Given the description of an element on the screen output the (x, y) to click on. 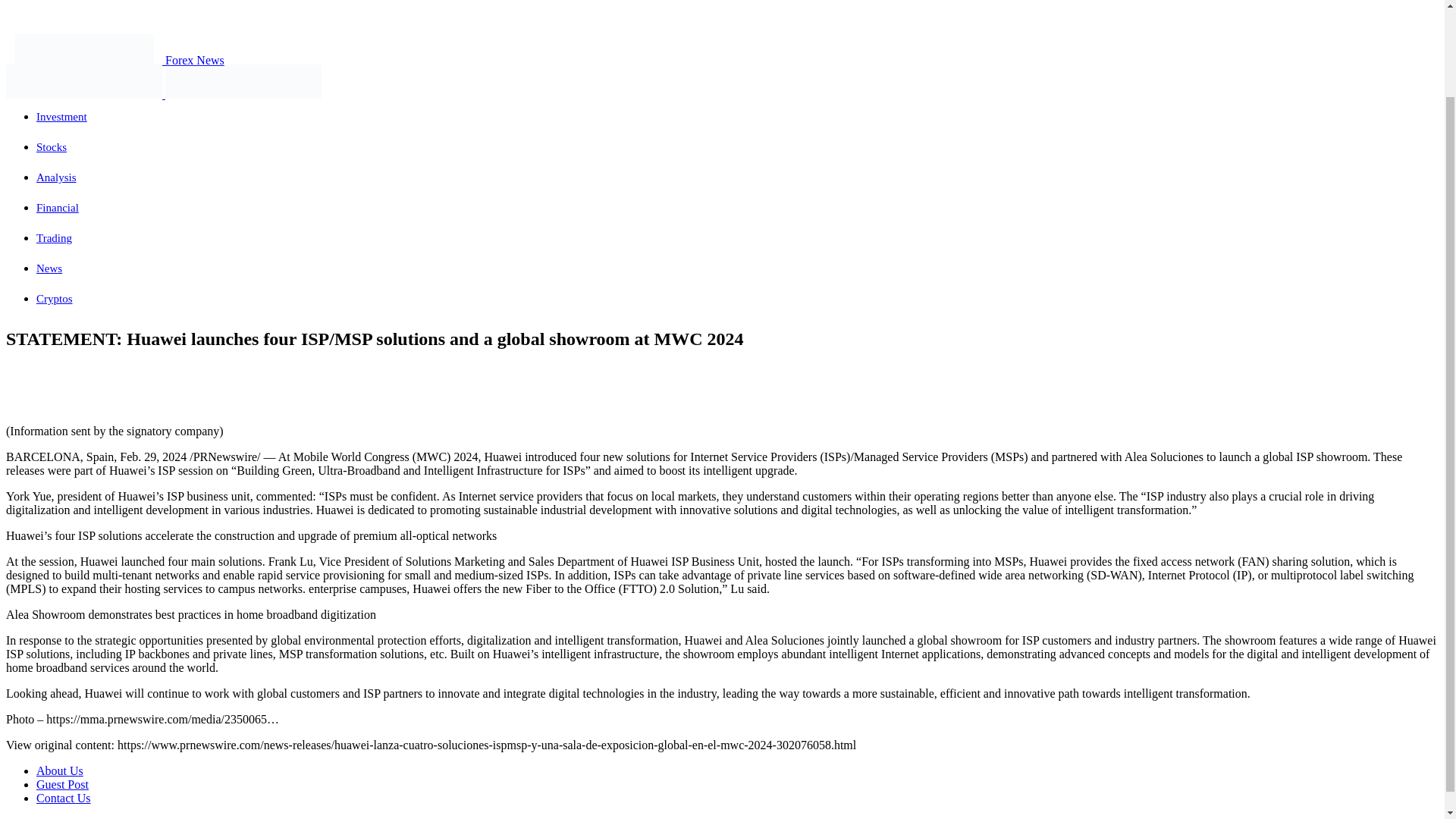
Trading (53, 237)
Investment (61, 116)
Analysis (56, 177)
Financial (57, 207)
Guest Post (62, 784)
About Us (59, 770)
Stocks (51, 146)
Contact Us (63, 797)
News (49, 268)
Forex News (114, 60)
Cryptos (54, 298)
